Given the description of an element on the screen output the (x, y) to click on. 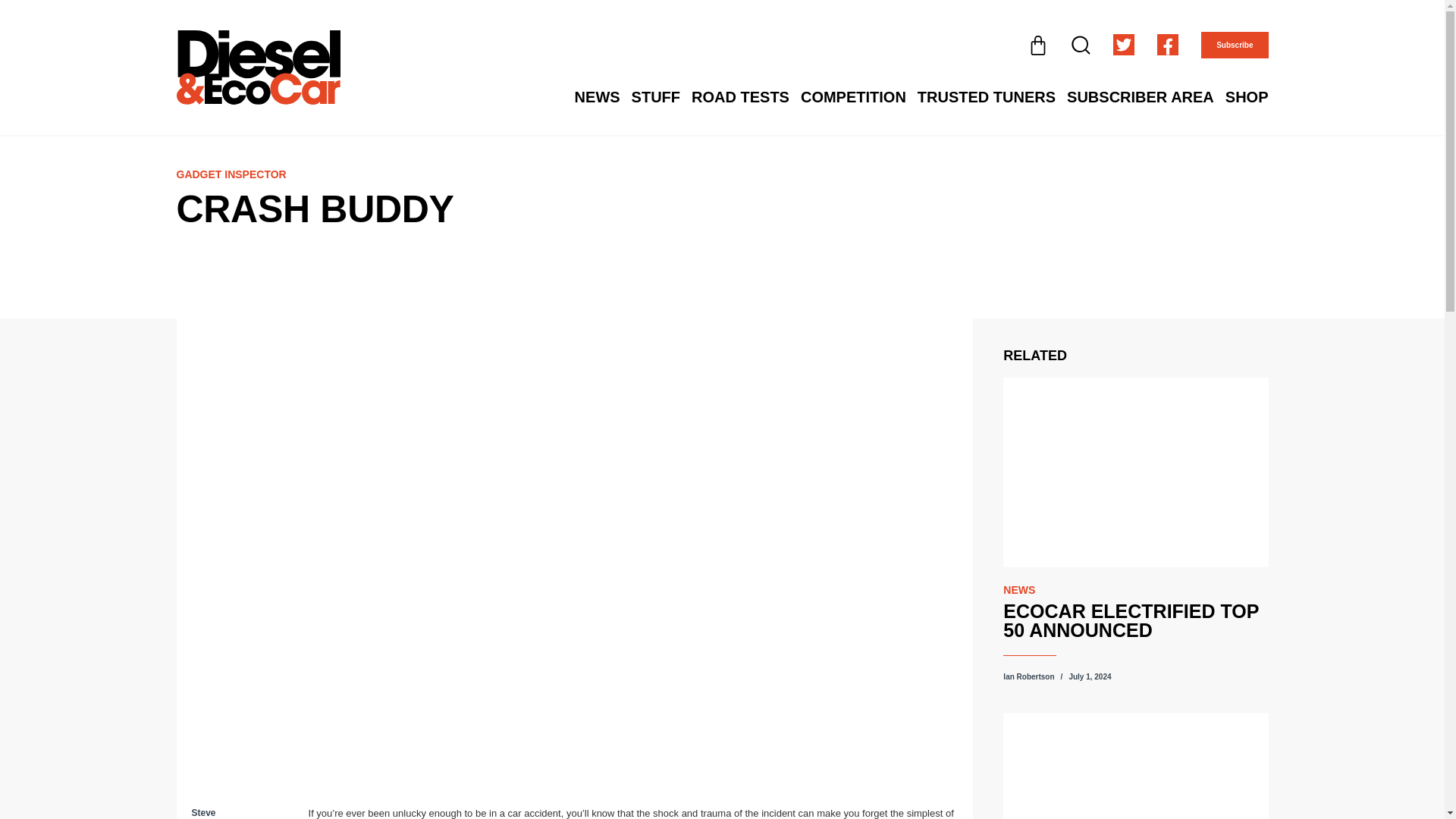
SHOP (1246, 96)
Subscribe (1234, 44)
ROAD TESTS (740, 96)
TRUSTED TUNERS (986, 96)
STUFF (655, 96)
SUBSCRIBER AREA (1140, 96)
COMPETITION (852, 96)
NEWS (597, 96)
